Given the description of an element on the screen output the (x, y) to click on. 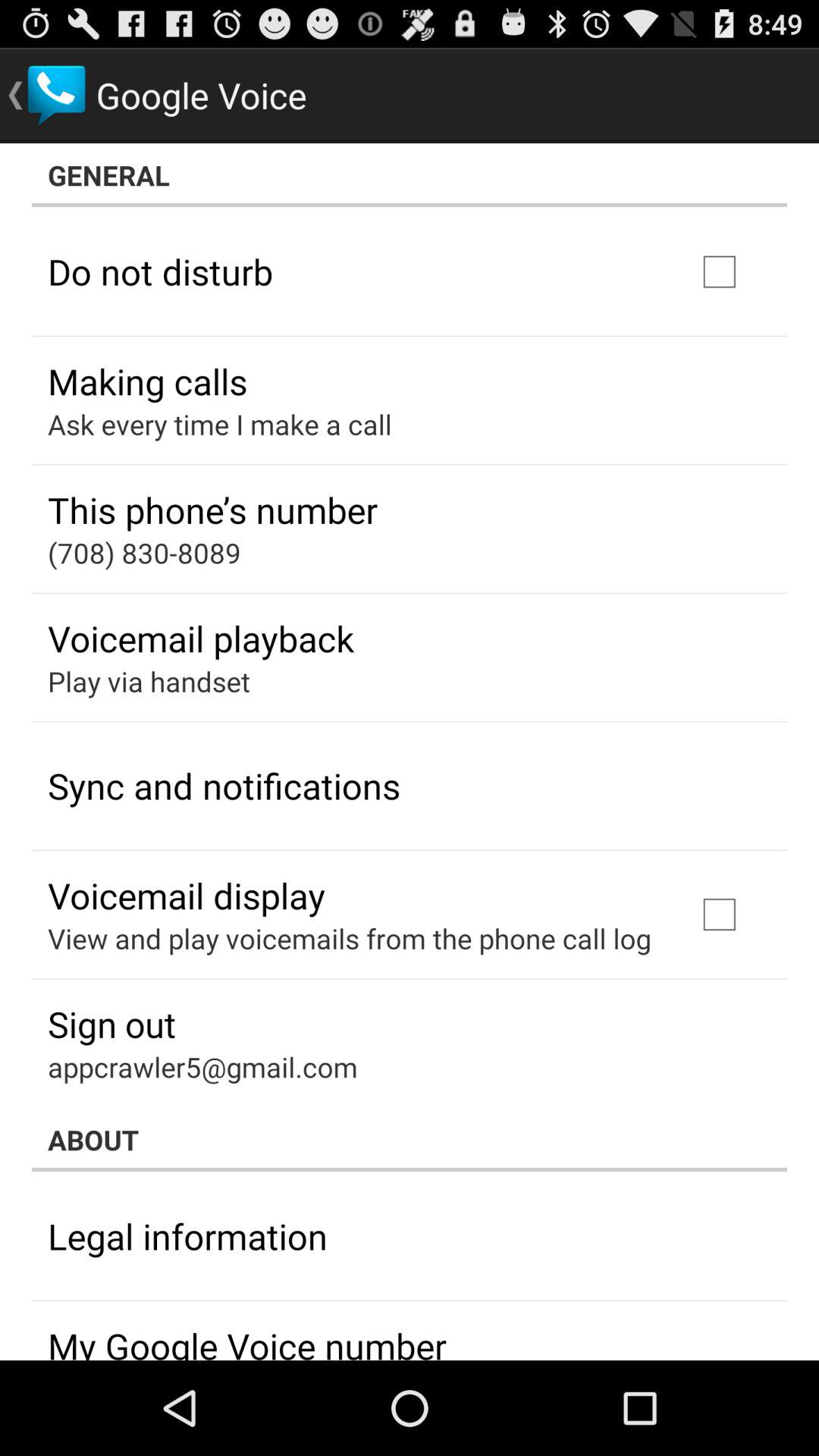
jump until sign out (111, 1023)
